Given the description of an element on the screen output the (x, y) to click on. 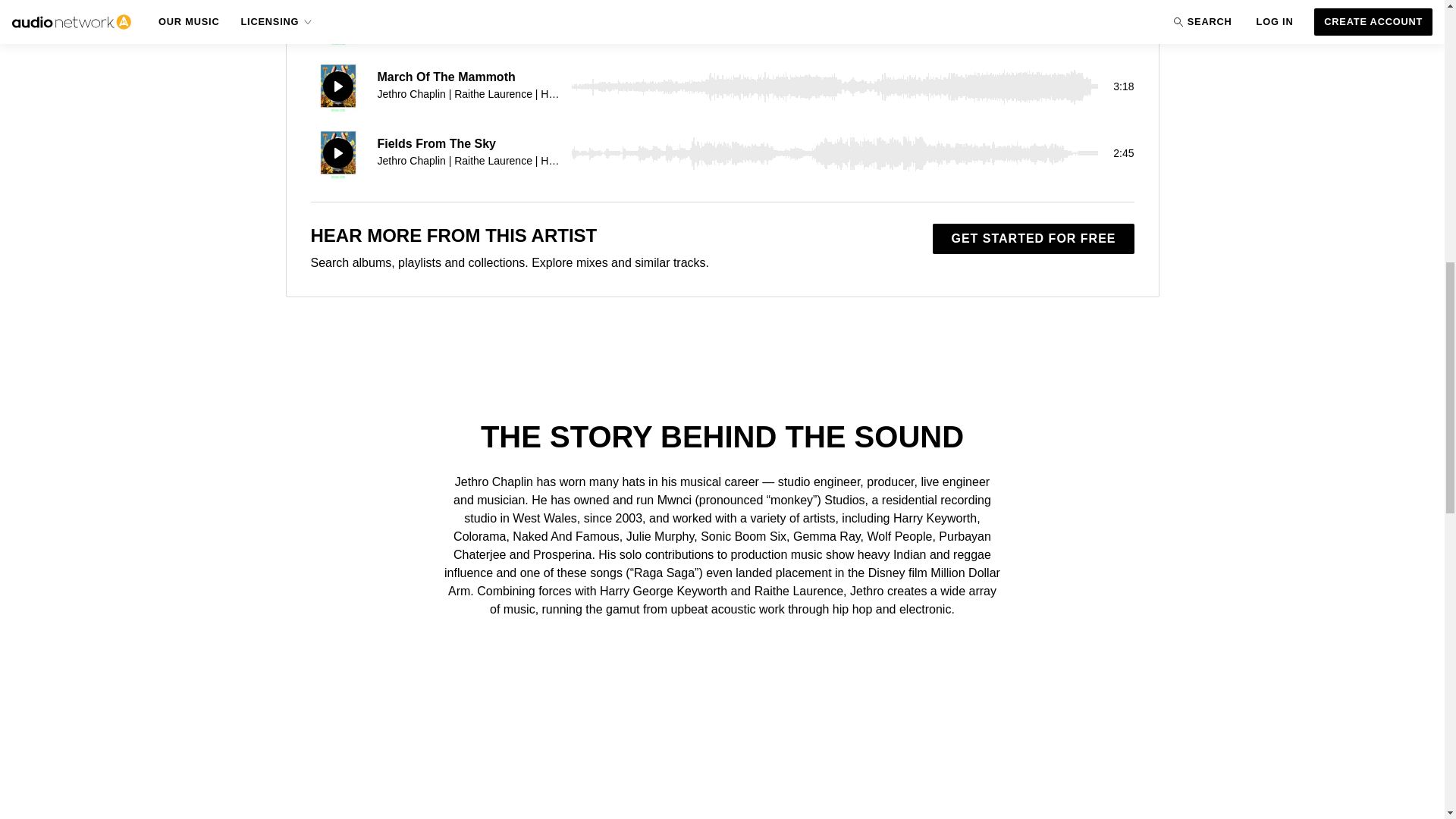
99 (834, 85)
83 (834, 153)
110 (834, 23)
GET STARTED FOR FREE (1033, 238)
